Given the description of an element on the screen output the (x, y) to click on. 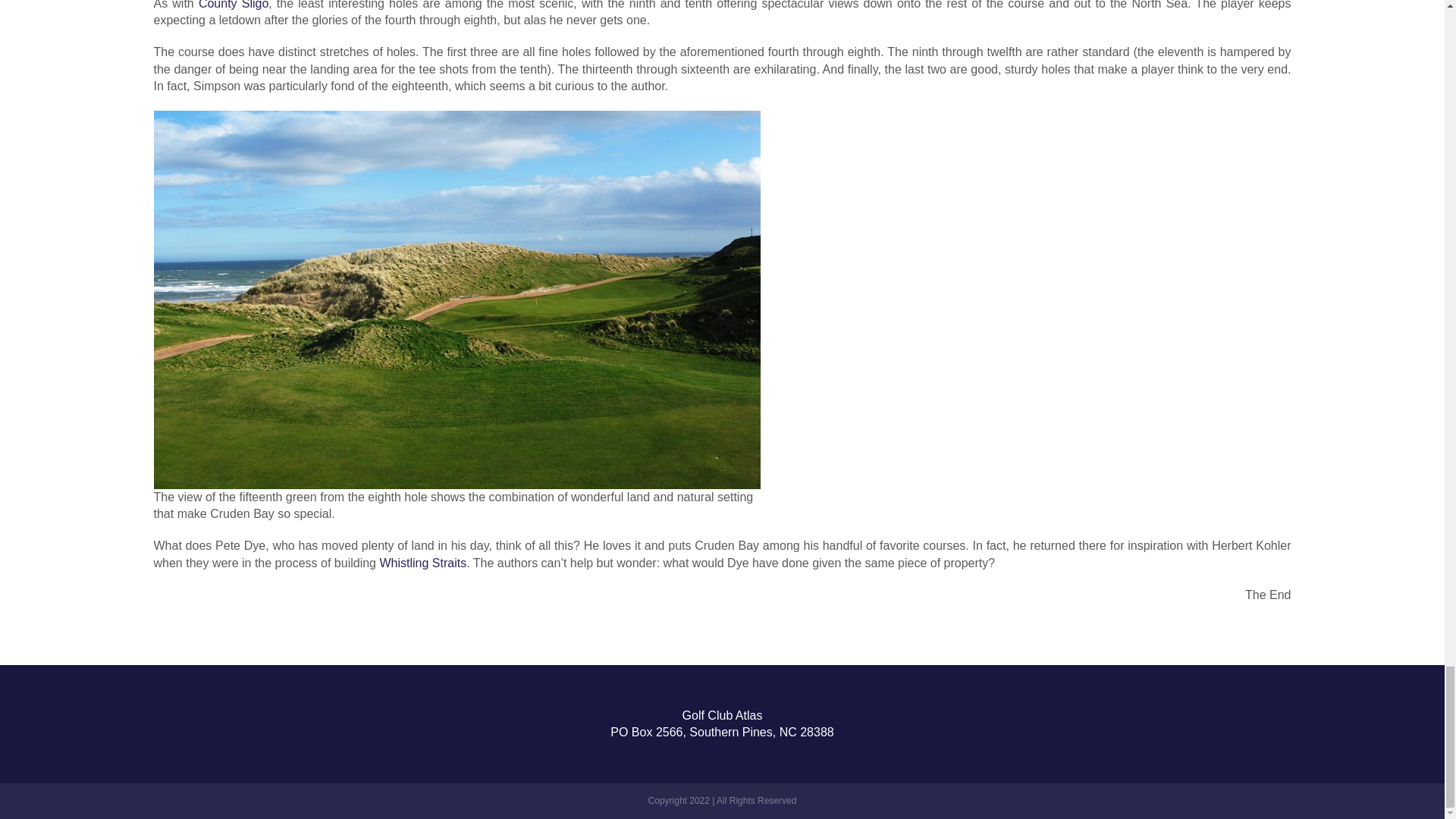
County Sligo (232, 4)
Whistling Straits (421, 562)
